Given the description of an element on the screen output the (x, y) to click on. 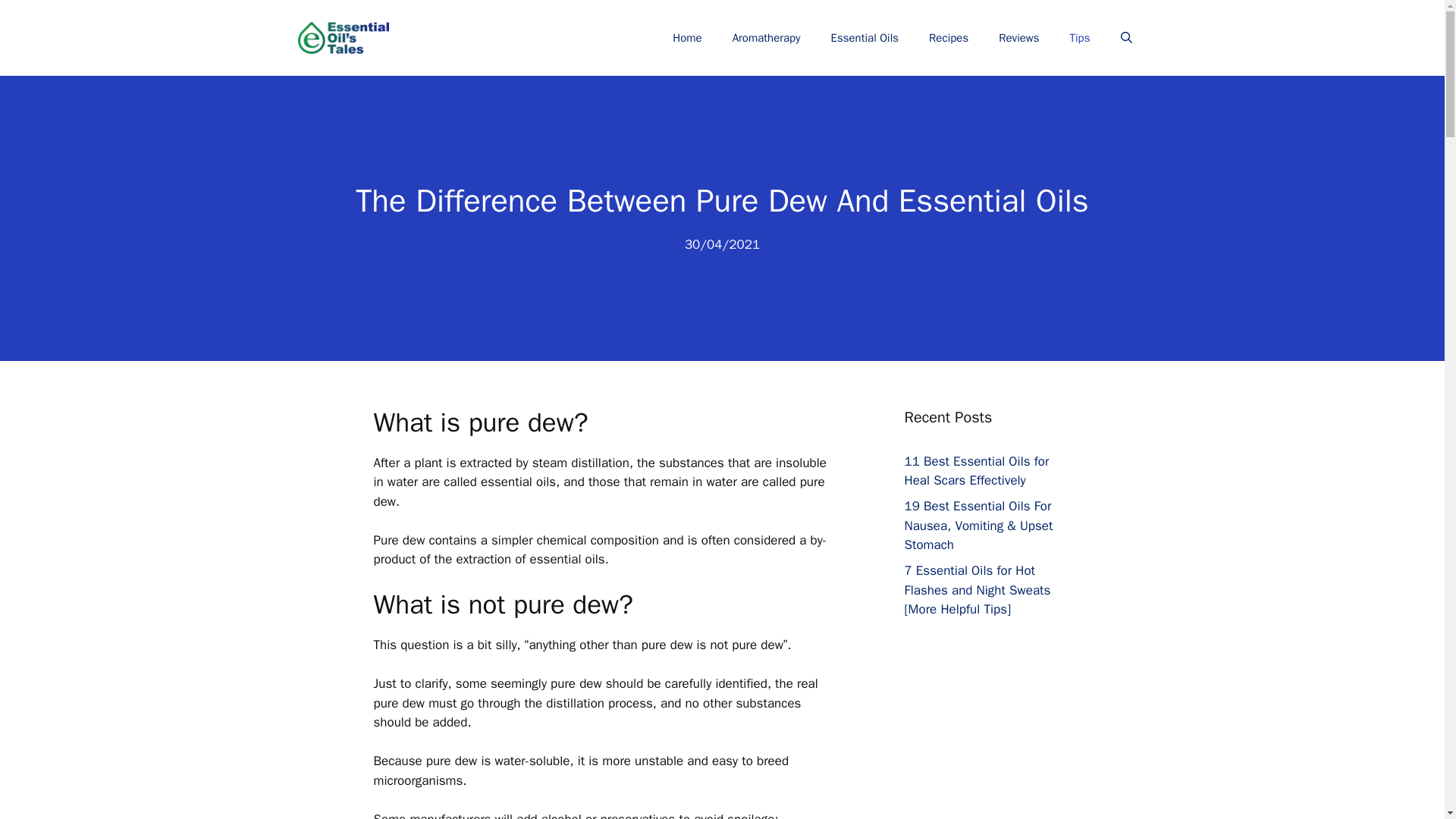
11 Best Essential Oils for Heal Scars Effectively (976, 470)
Reviews (1019, 37)
Recipes (949, 37)
Tips (1079, 37)
Home (687, 37)
Advertisement (1002, 760)
Aromatherapy (766, 37)
Essential Oils (864, 37)
